Given the description of an element on the screen output the (x, y) to click on. 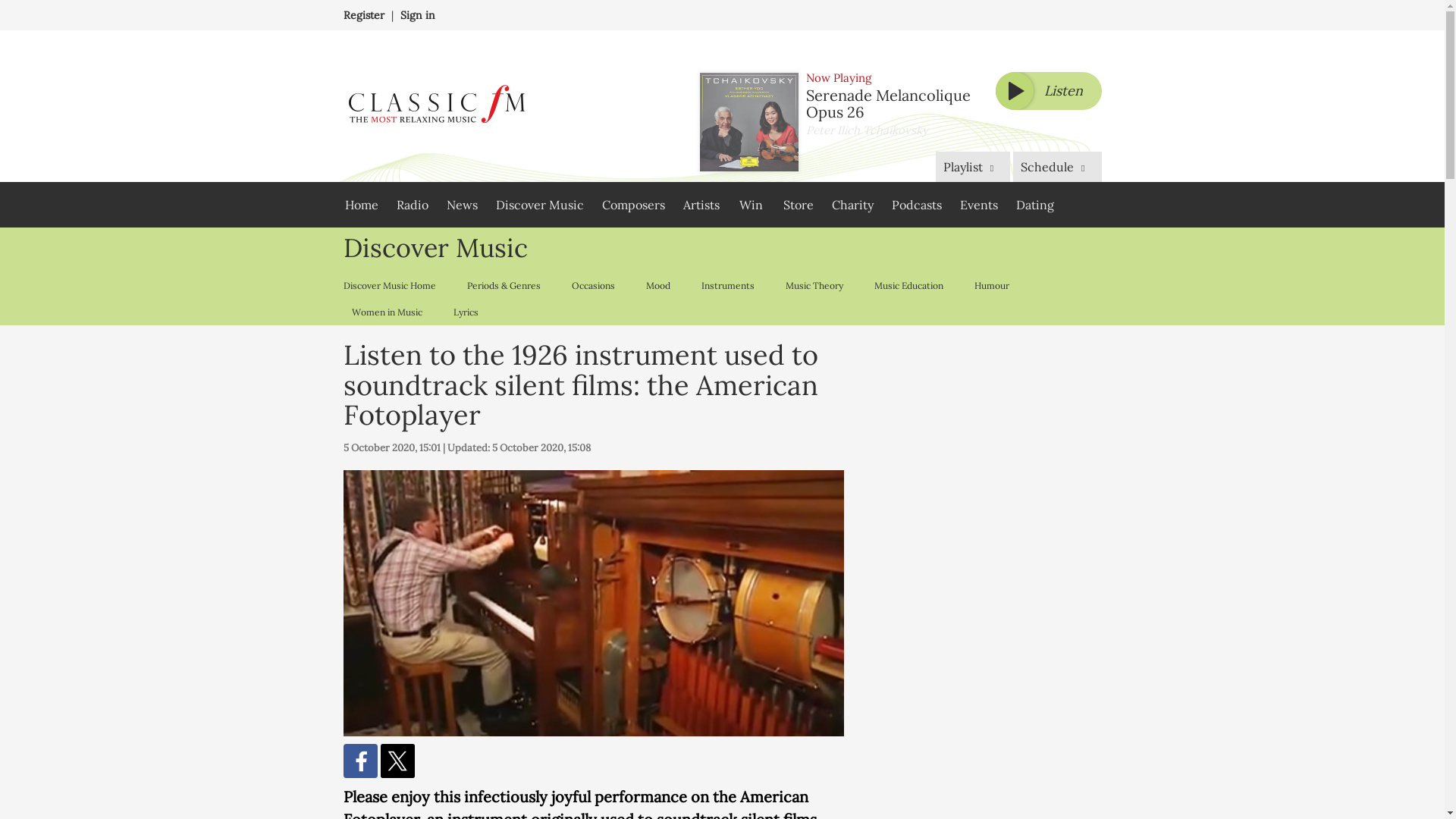
Women in Music (385, 311)
Mood (656, 285)
Playlist (973, 166)
Store (797, 204)
Win (750, 204)
Artists (700, 204)
Charity (852, 204)
Music Theory (812, 285)
Lyrics (464, 311)
Composers (633, 204)
Classic FM (435, 106)
Schedule (1056, 166)
Occasions (591, 285)
Music Education (908, 285)
